Given the description of an element on the screen output the (x, y) to click on. 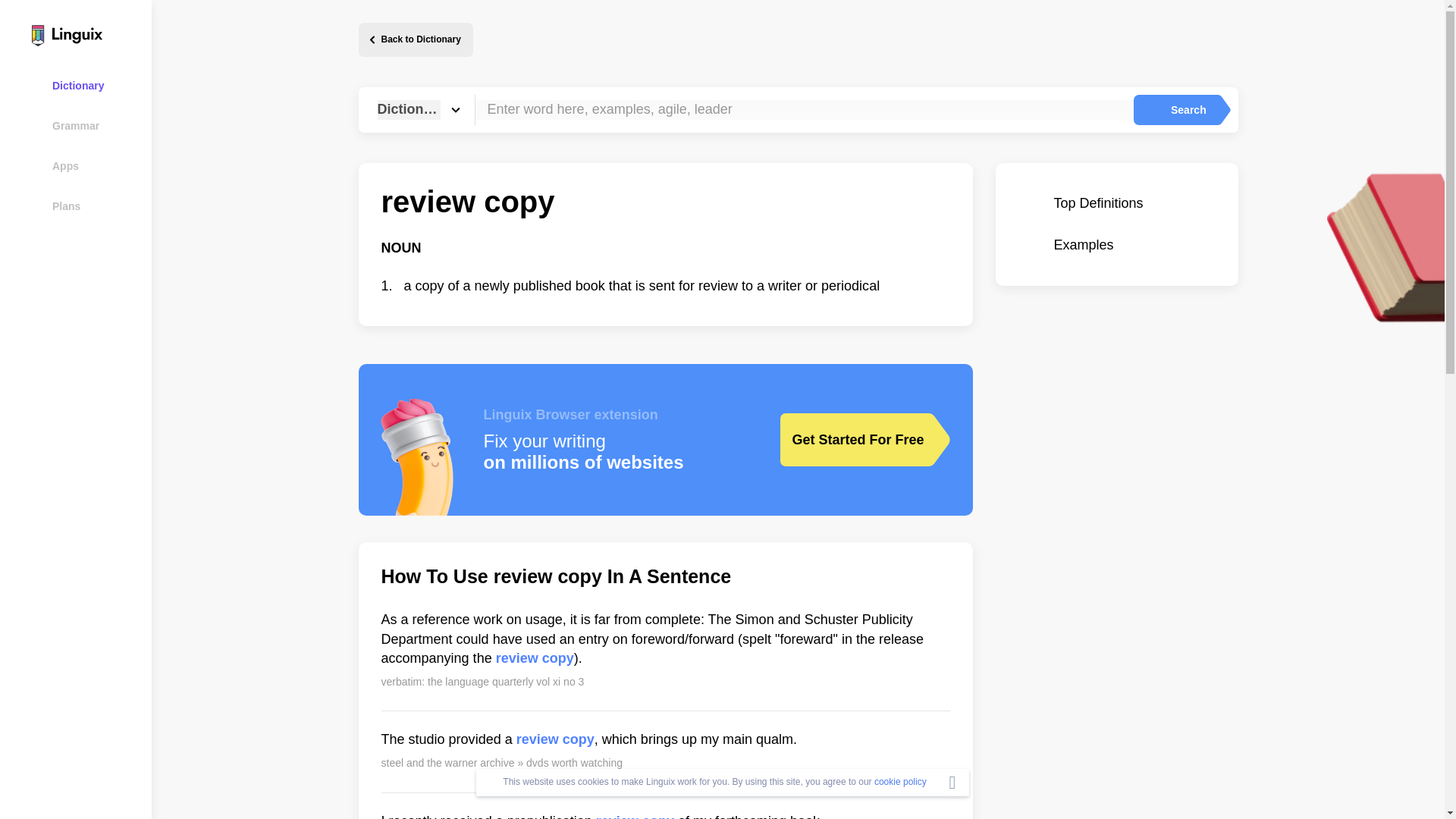
Examples (1115, 244)
Apps (84, 165)
Plans (84, 206)
cookie policy (900, 781)
Dictionary (84, 85)
Grammar (84, 126)
Search (1175, 110)
Top Definitions (1115, 203)
Get Started For Free (852, 439)
Back to Dictionary (414, 39)
